Given the description of an element on the screen output the (x, y) to click on. 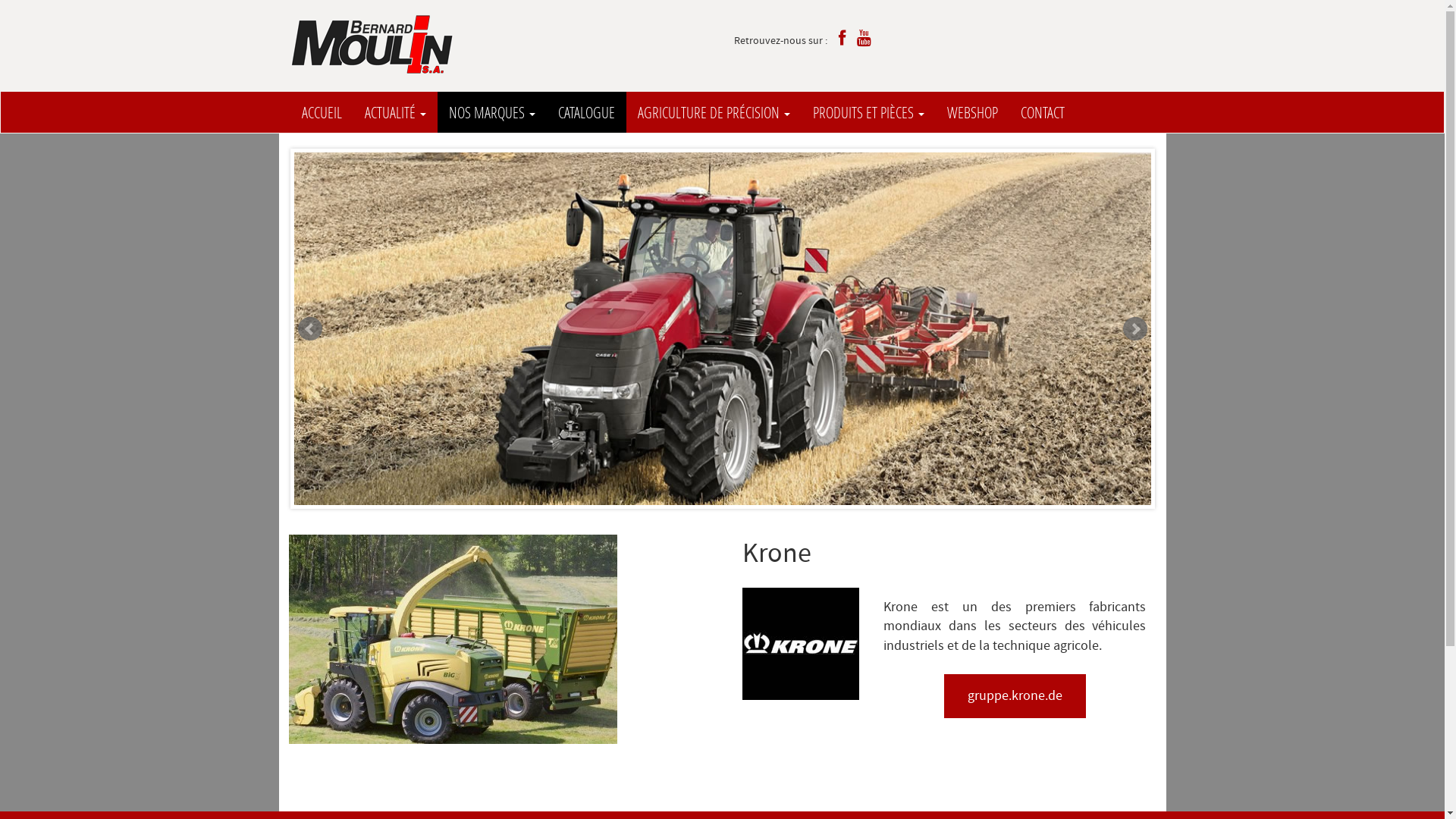
ACCUEIL Element type: text (320, 111)
CATALOGUE Element type: text (585, 111)
CONTACT Element type: text (1041, 111)
NOS MARQUES Element type: text (491, 111)
Prev Element type: text (309, 328)
Next Element type: text (1134, 328)
gruppe.krone.de Element type: text (1014, 696)
WEBSHOP Element type: text (972, 111)
